Given the description of an element on the screen output the (x, y) to click on. 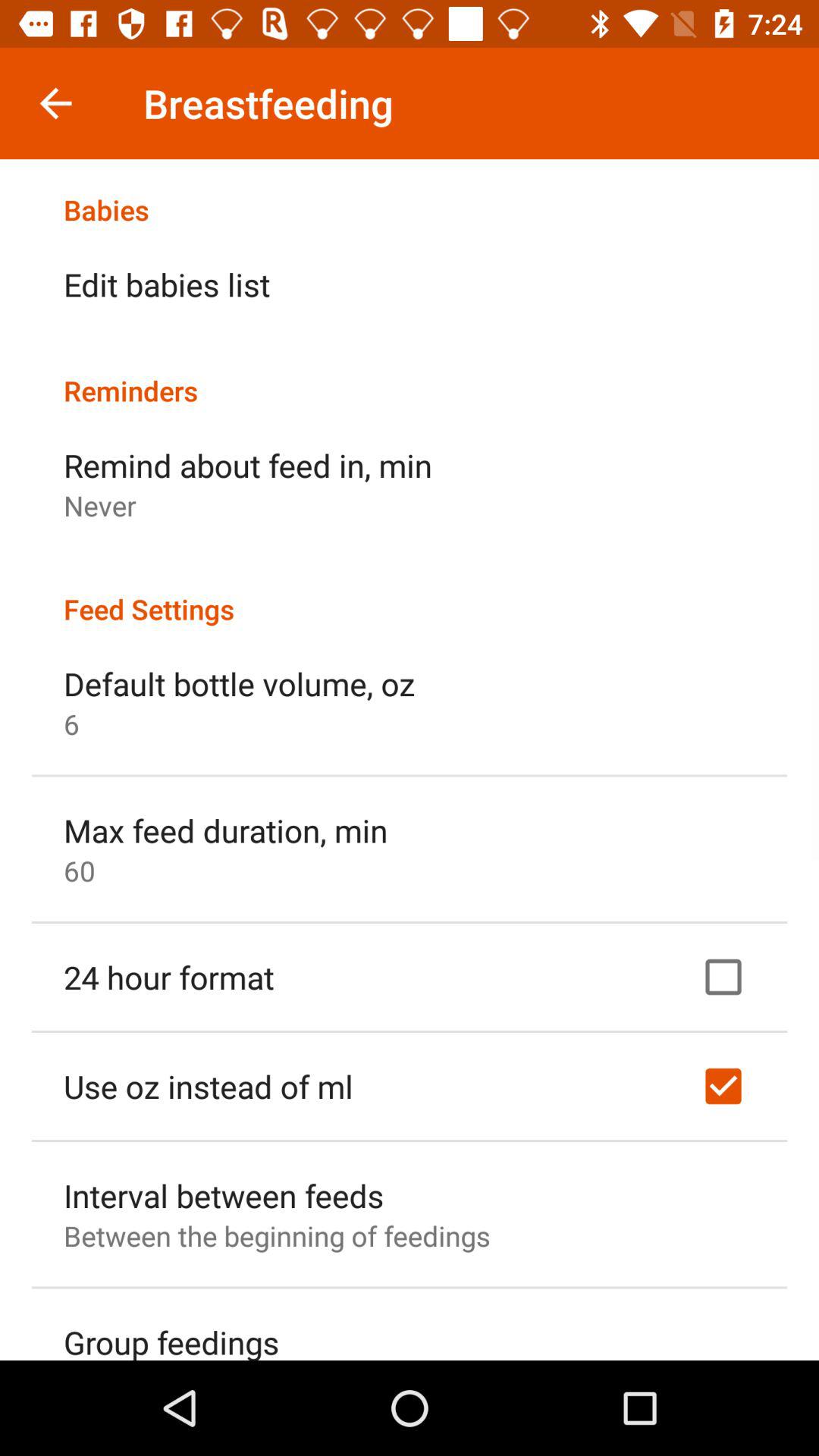
turn on the item below 6 (225, 829)
